Given the description of an element on the screen output the (x, y) to click on. 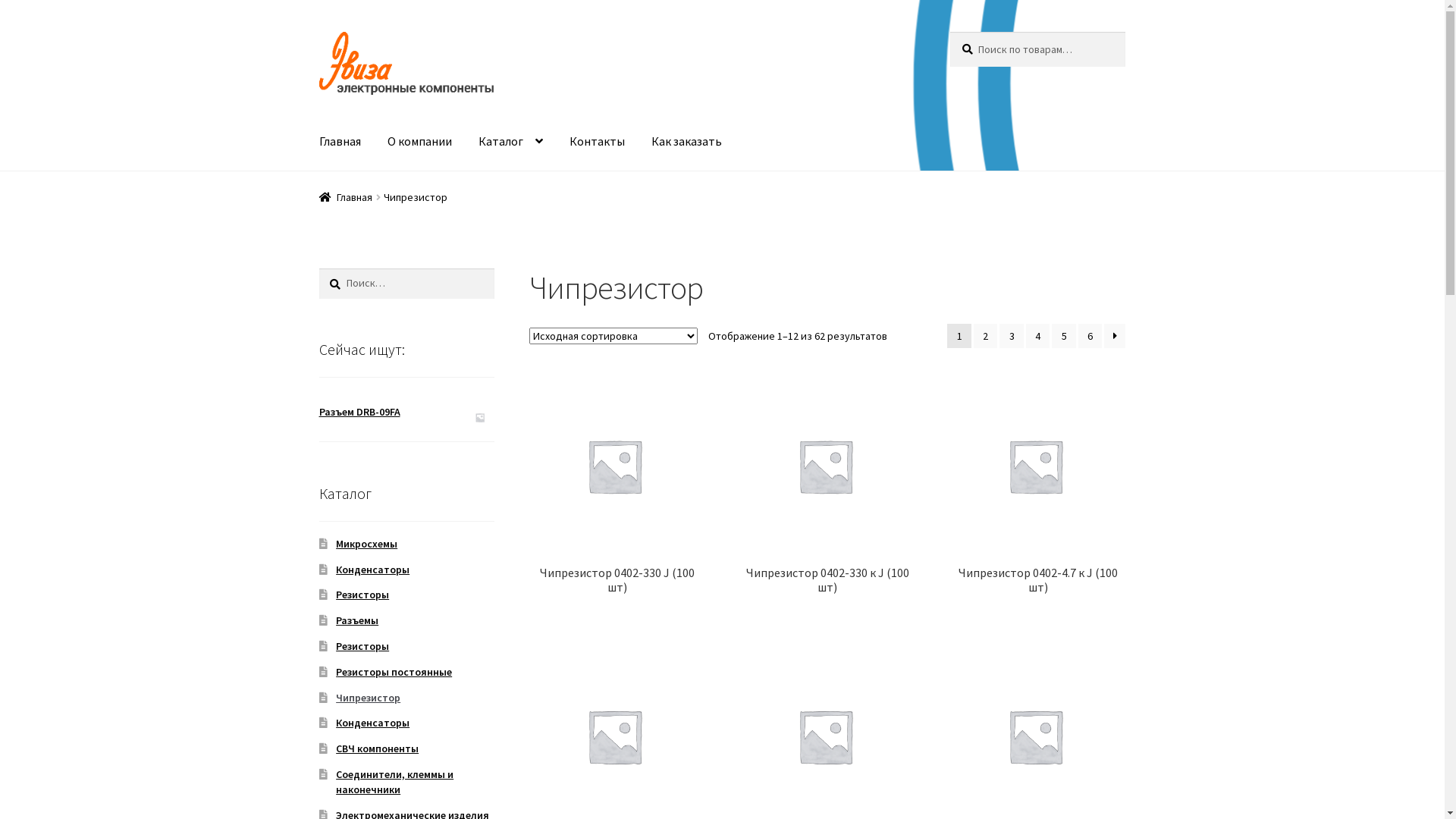
3 Element type: text (1011, 335)
4 Element type: text (1038, 335)
2 Element type: text (985, 335)
5 Element type: text (1063, 335)
6 Element type: text (1090, 335)
